Given the description of an element on the screen output the (x, y) to click on. 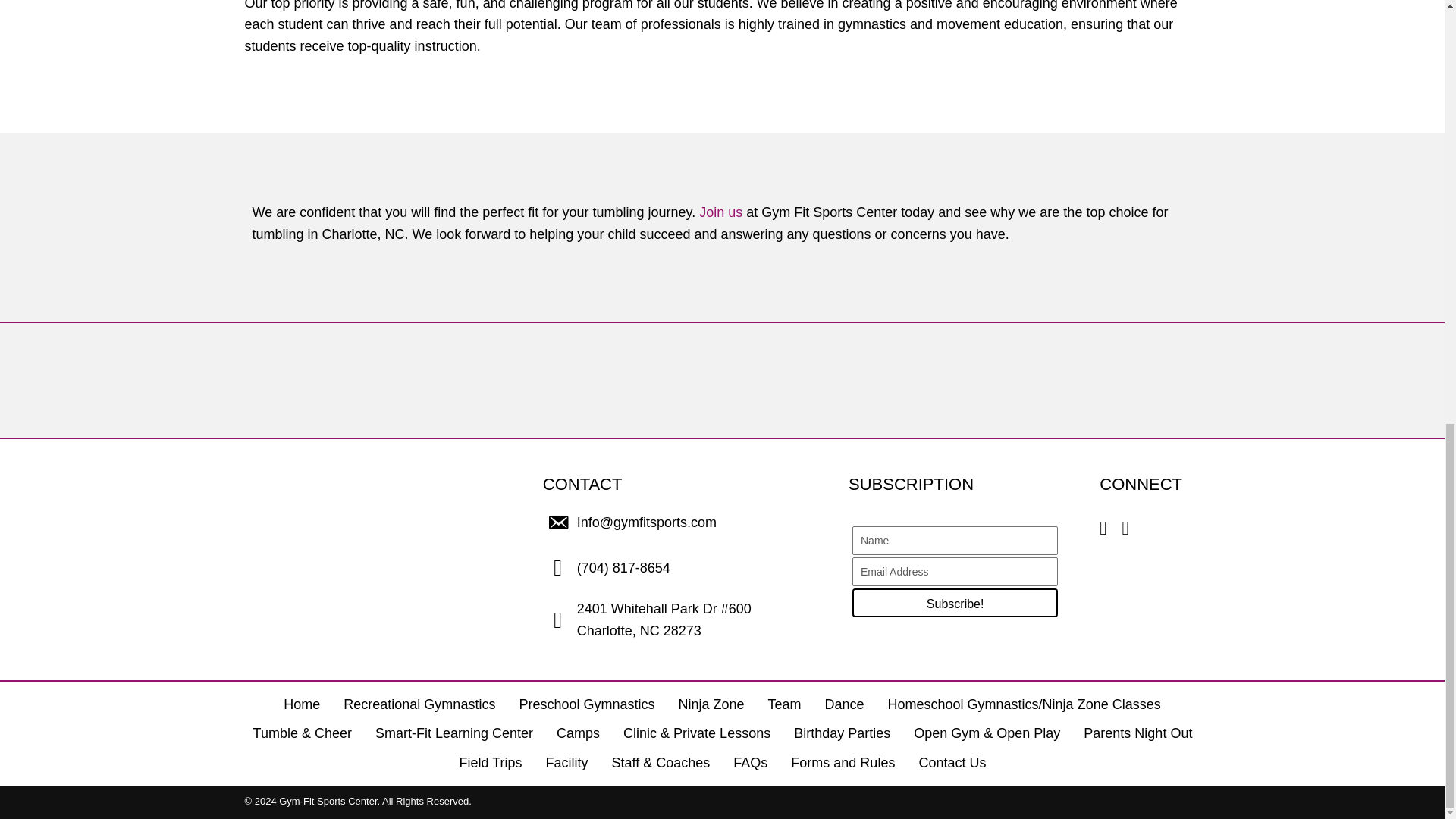
Join us (720, 212)
logo (320, 548)
